Given the description of an element on the screen output the (x, y) to click on. 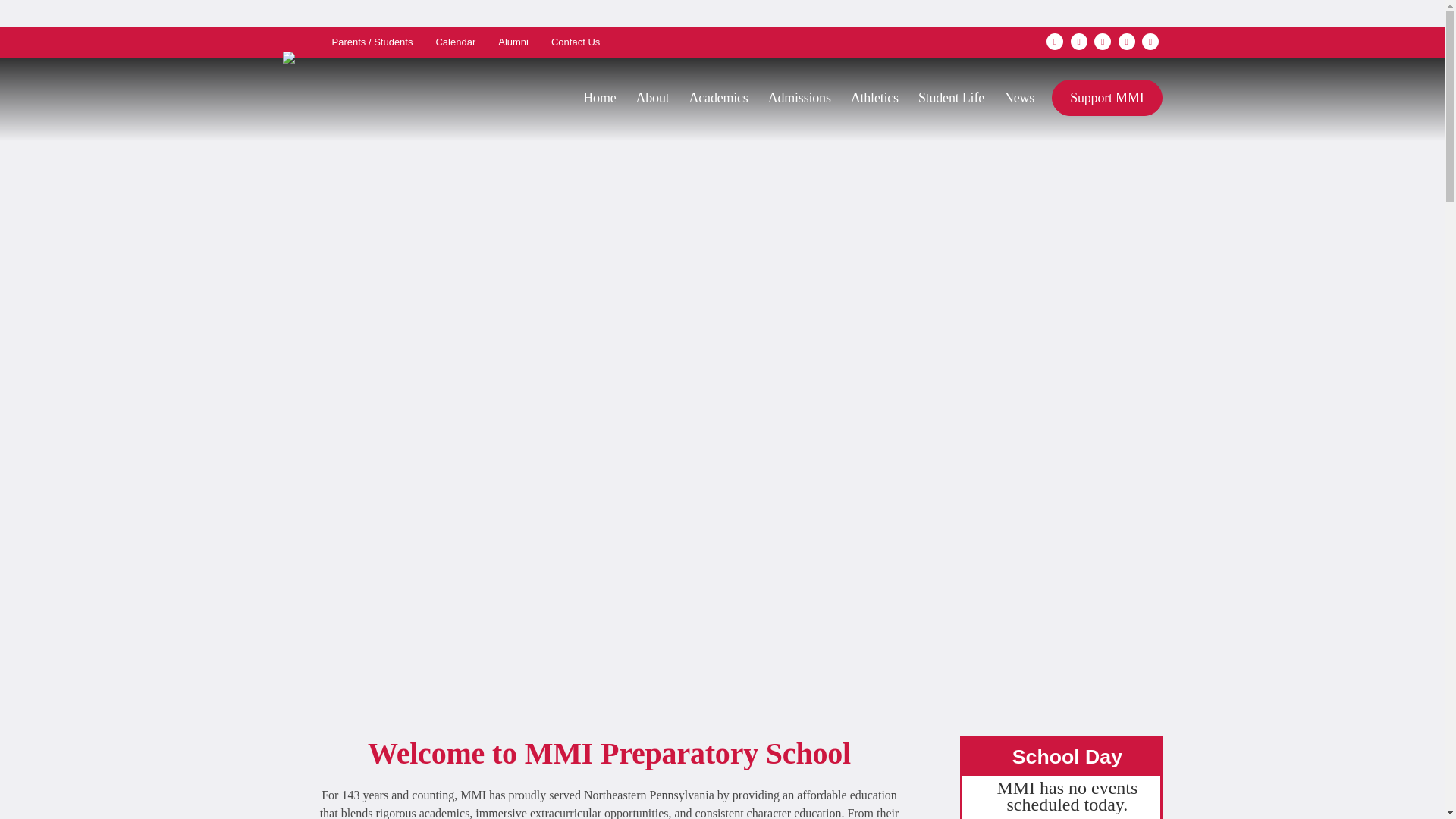
YouTube (1149, 41)
Pinterest (1126, 41)
Click for full calendar (1066, 756)
Facebook (1054, 41)
Contact Us (575, 41)
Academics (718, 98)
Twitter (1102, 41)
Alumni (512, 41)
Instagram (1078, 41)
Calendar (455, 41)
Admissions (799, 98)
